Given the description of an element on the screen output the (x, y) to click on. 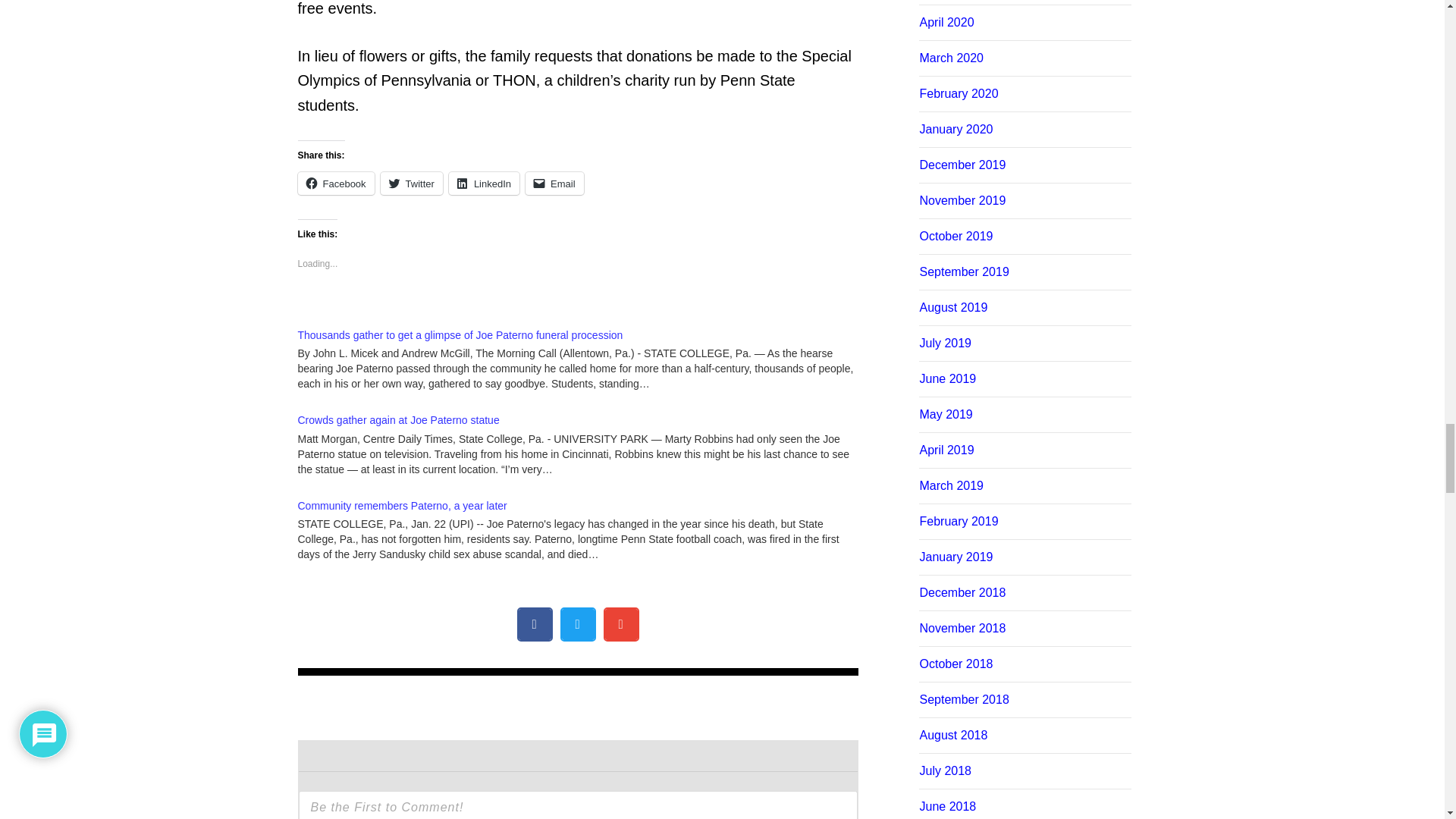
Click to email a link to a friend (554, 182)
Crowds gather again at Joe Paterno statue (398, 419)
Facebook (335, 182)
LinkedIn (483, 182)
Twitter (411, 182)
Community remembers Paterno, a year later (401, 505)
Click to share on Twitter (411, 182)
Crowds gather again at Joe Paterno statue (585, 441)
Community remembers Paterno, a year later (401, 505)
Email (554, 182)
Click to share on LinkedIn (483, 182)
Crowds gather again at Joe Paterno statue (398, 419)
